Given the description of an element on the screen output the (x, y) to click on. 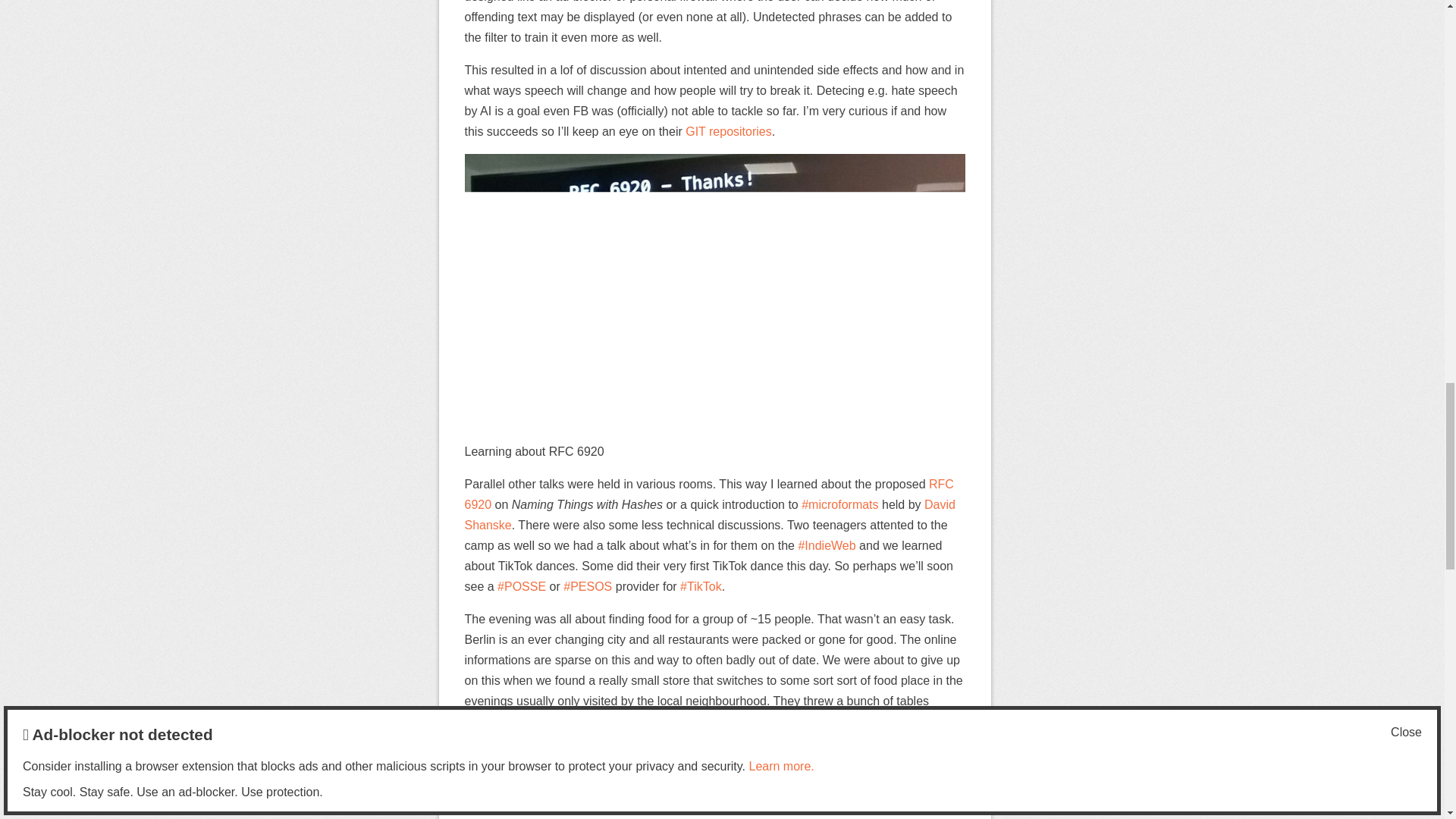
David Shanske (709, 514)
RFC 6920 (708, 494)
GIT repositories (728, 131)
